Given the description of an element on the screen output the (x, y) to click on. 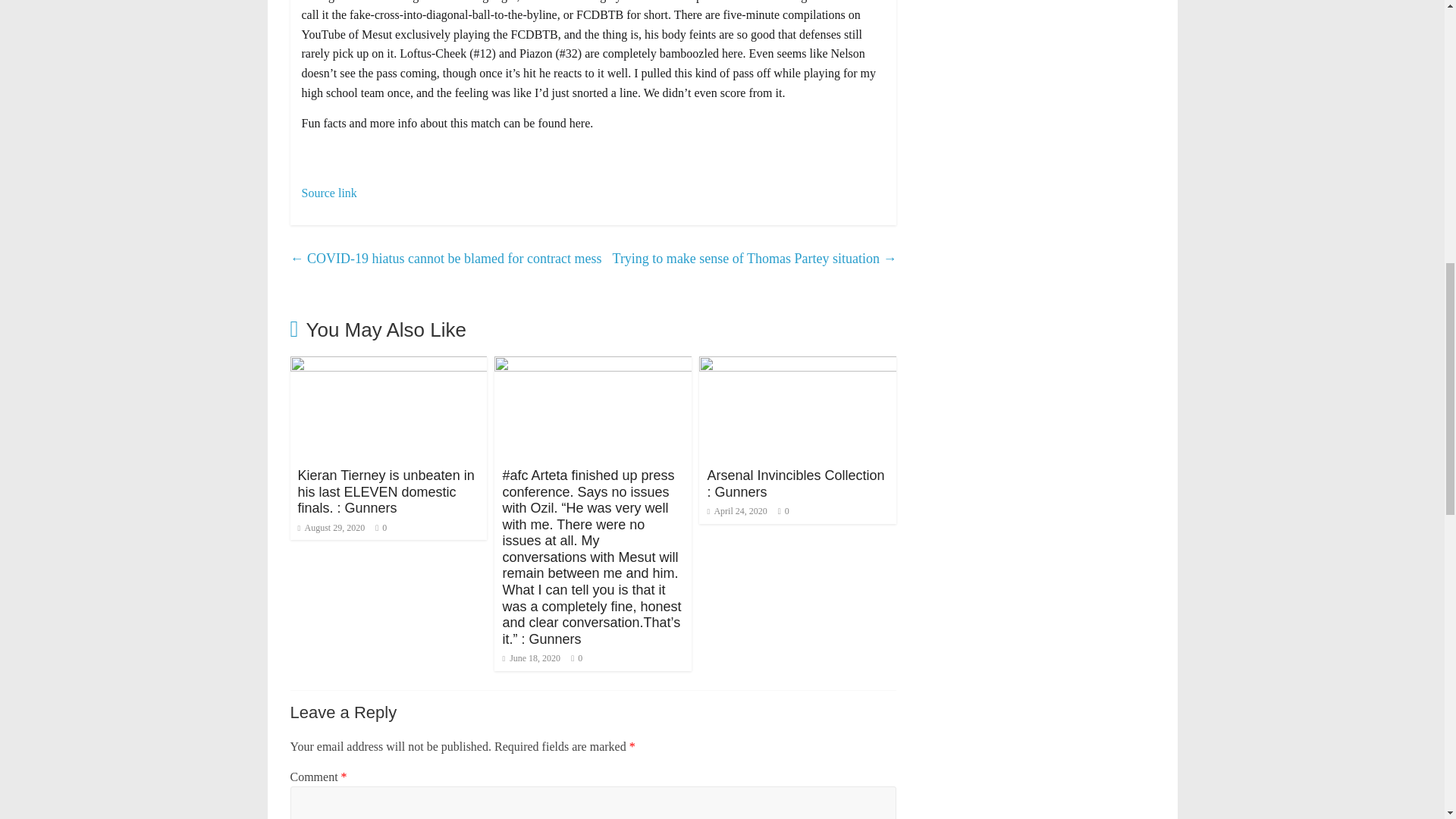
August 29, 2020 (331, 527)
10:05 pm (331, 527)
Arsenal Invincibles Collection : Gunners (794, 483)
June 18, 2020 (531, 657)
April 24, 2020 (736, 511)
Source link (328, 192)
